Given the description of an element on the screen output the (x, y) to click on. 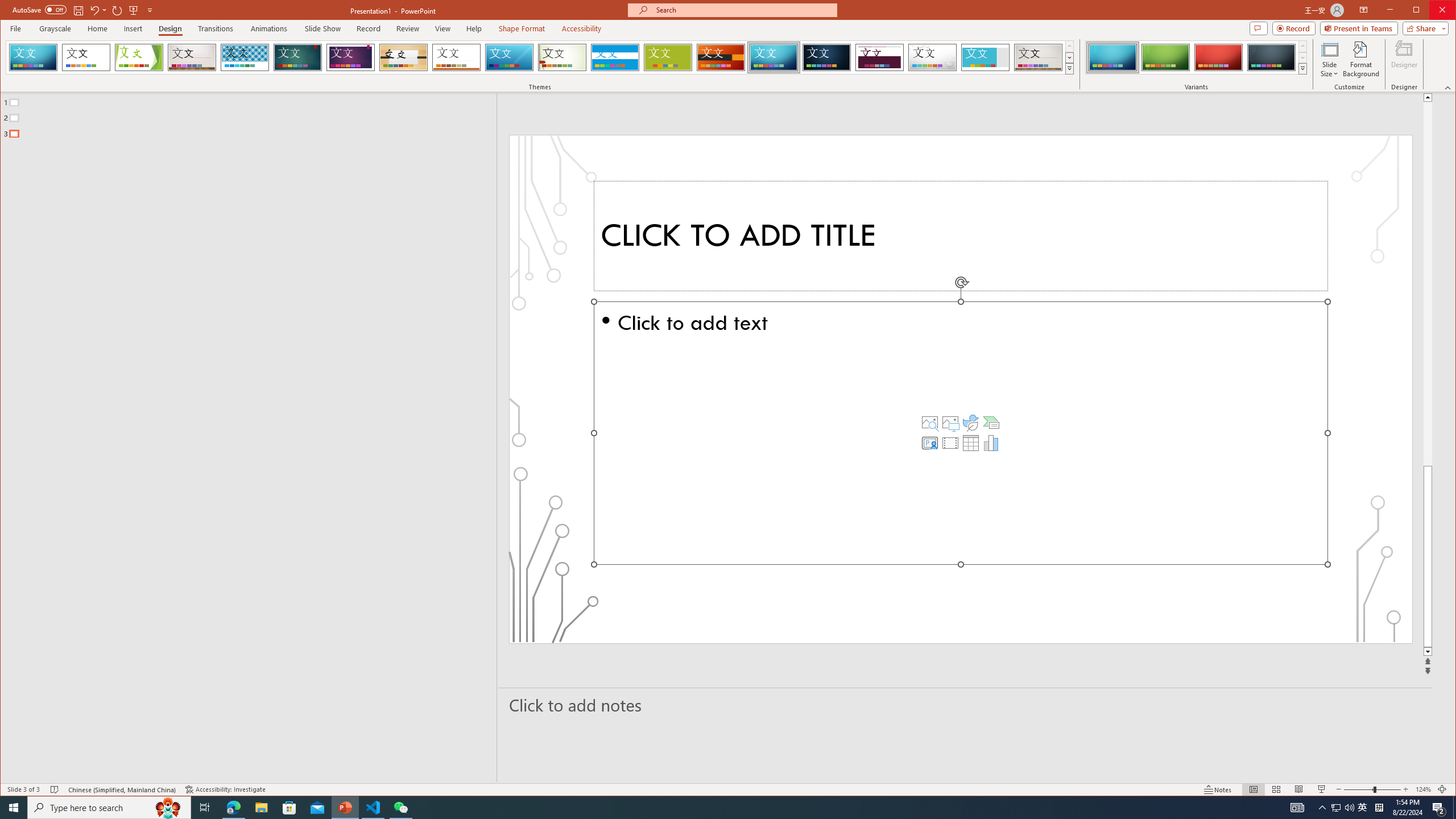
Slide Sorter (1276, 789)
Visual Studio Code - 1 running window (373, 807)
Retrospect (456, 57)
Record (368, 28)
Type here to search (108, 807)
Zoom In (1405, 789)
Start (13, 807)
Ribbon Display Options (1364, 9)
Q2790: 100% (1349, 807)
File Explorer (261, 807)
Present in Teams (1358, 28)
Microsoft Edge - 1 running window (233, 807)
Spell Check No Errors (55, 789)
Reading View (1298, 789)
Slide Show (322, 28)
